Given the description of an element on the screen output the (x, y) to click on. 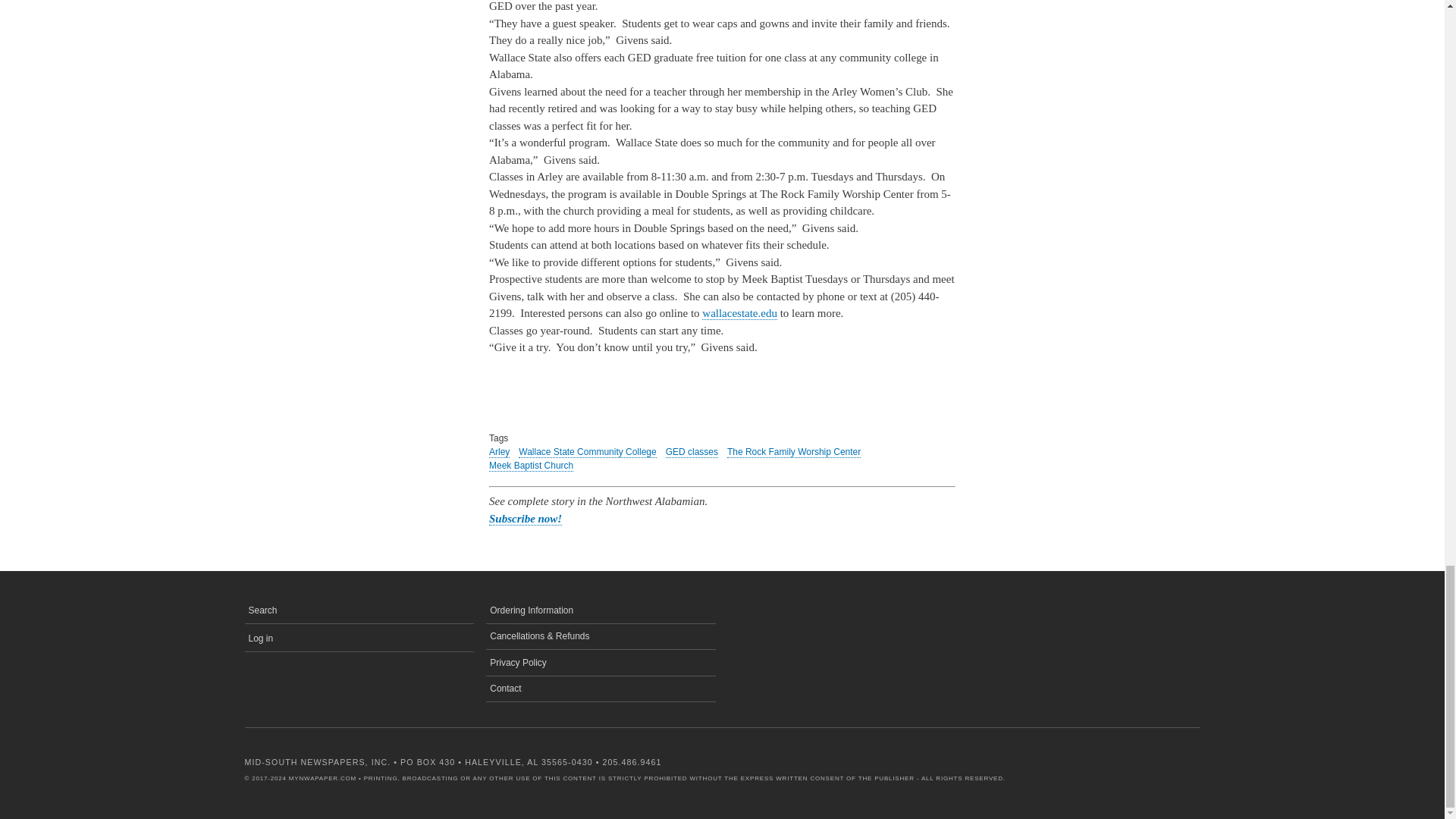
GED classes (691, 451)
Wallace State Community College (587, 451)
Meek Baptist Church (531, 465)
Subscribe now! (525, 518)
The Rock Family Worship Center (793, 451)
wallacestate.edu (739, 313)
Arley (499, 451)
